Given the description of an element on the screen output the (x, y) to click on. 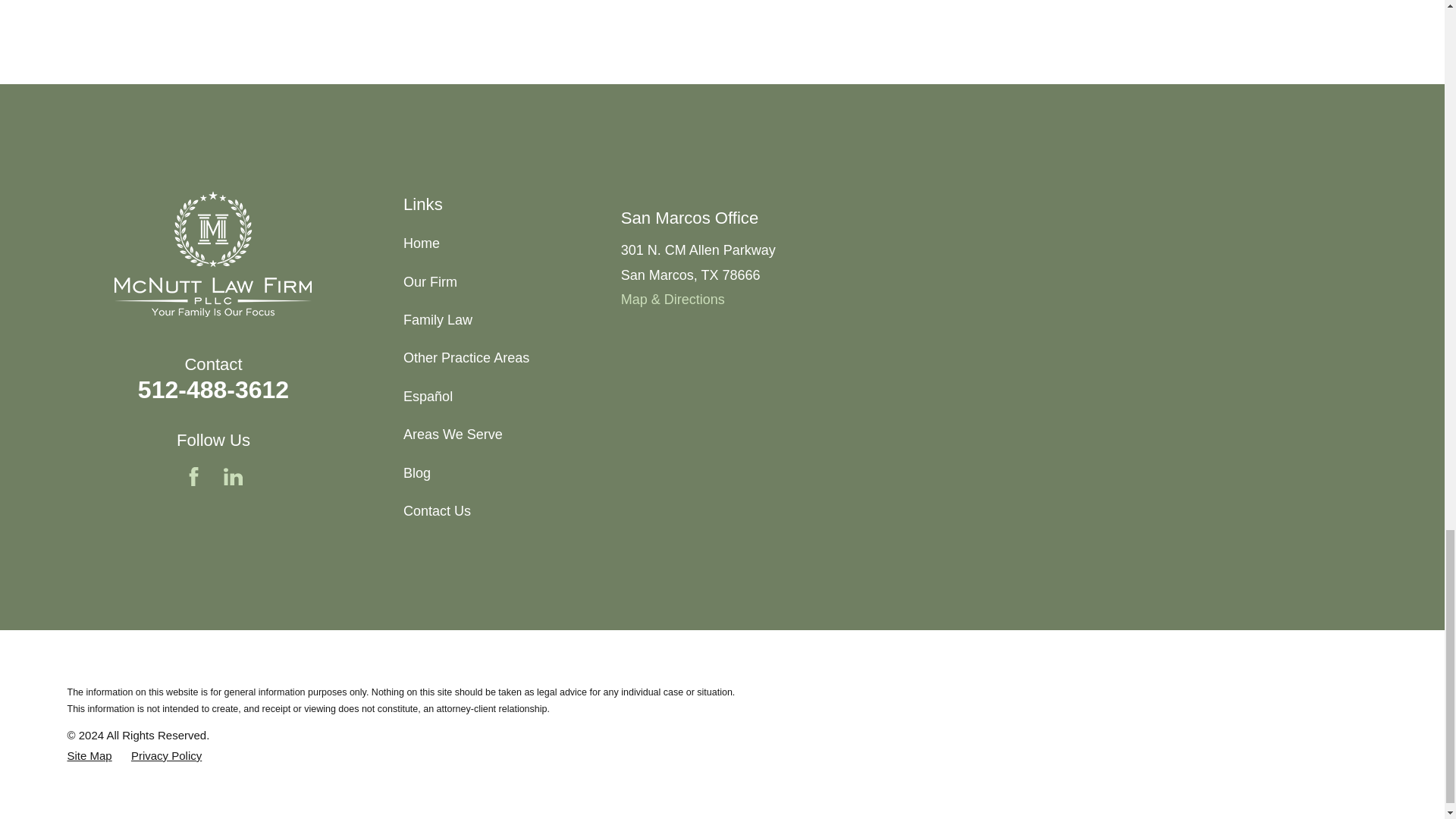
Home (213, 253)
Facebook (193, 476)
LinkedIn (233, 476)
